Given the description of an element on the screen output the (x, y) to click on. 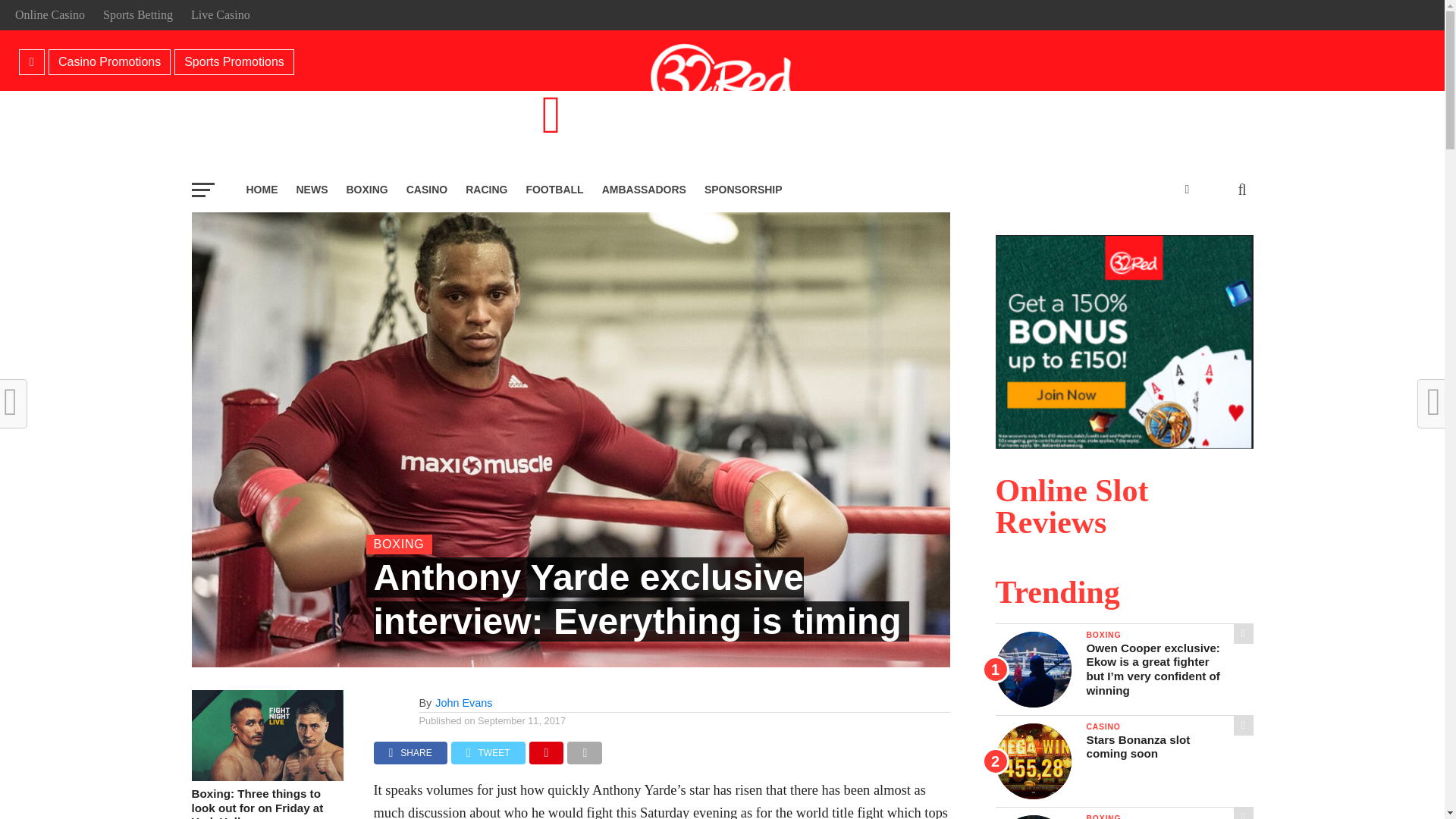
CASINO (427, 189)
RACING (486, 189)
Home (31, 61)
BOXING (366, 189)
Posts by John Evans (463, 702)
HOME (260, 189)
Boxing: Three things to look out for on Friday at York Hall (266, 776)
Online Casino (49, 14)
NEWS (311, 189)
Sports Betting (138, 14)
